Given the description of an element on the screen output the (x, y) to click on. 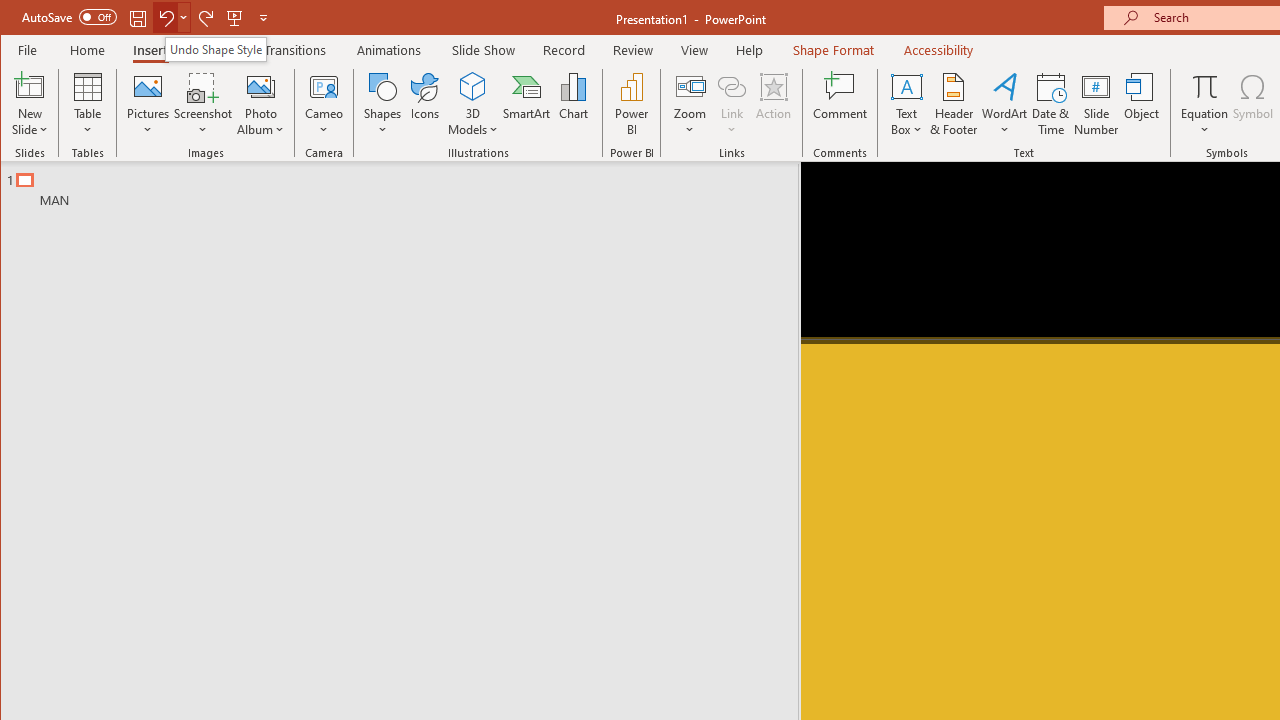
Accessibility (938, 50)
Header & Footer... (954, 104)
View (694, 50)
Photo Album... (260, 104)
Link (731, 86)
Table (87, 104)
Redo (206, 17)
New Slide (29, 86)
AutoSave (68, 16)
Outline (408, 185)
Home (87, 50)
Shape Format (833, 50)
Link (731, 104)
